Given the description of an element on the screen output the (x, y) to click on. 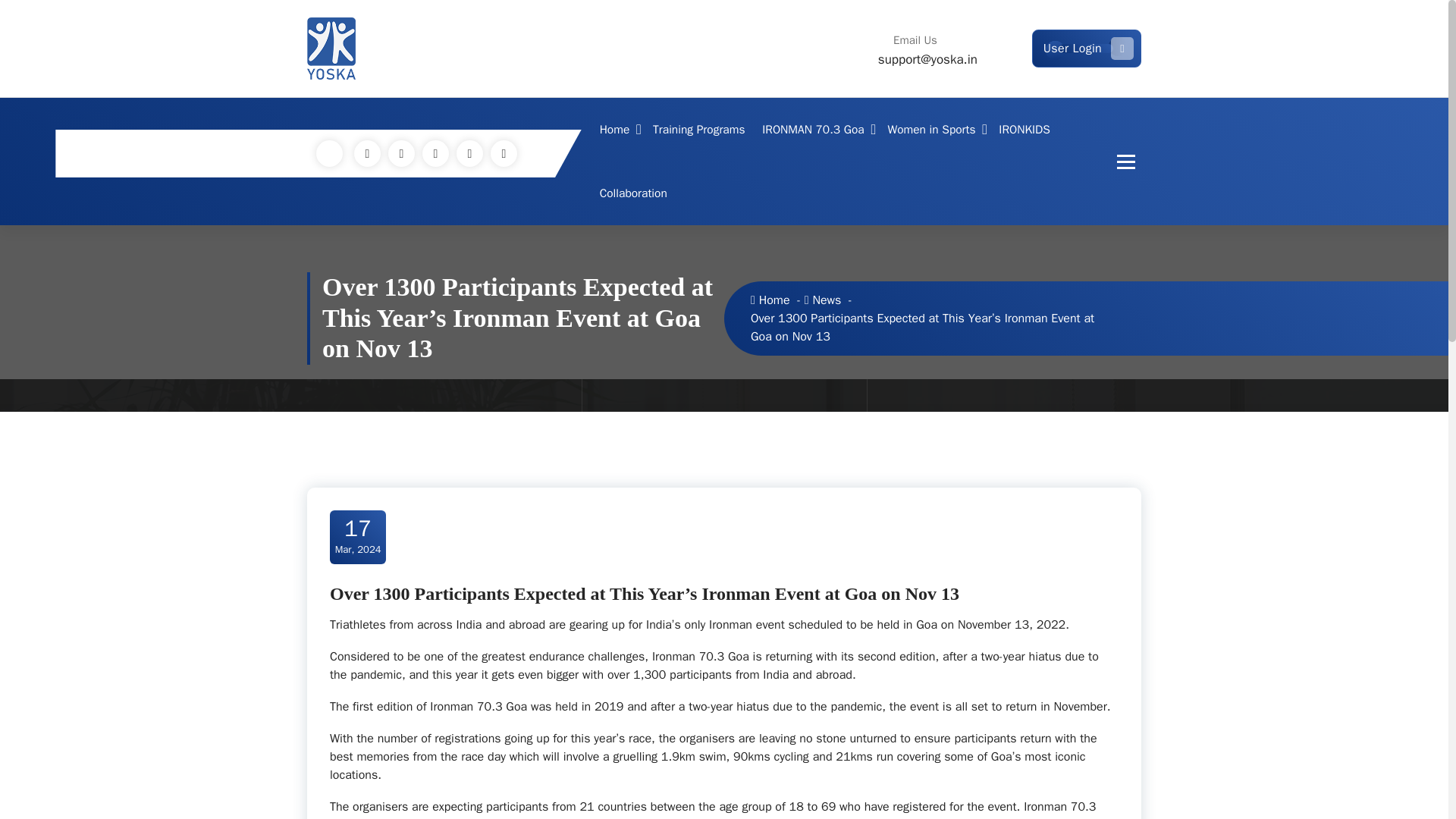
Home (618, 129)
User Login (1086, 48)
